Given the description of an element on the screen output the (x, y) to click on. 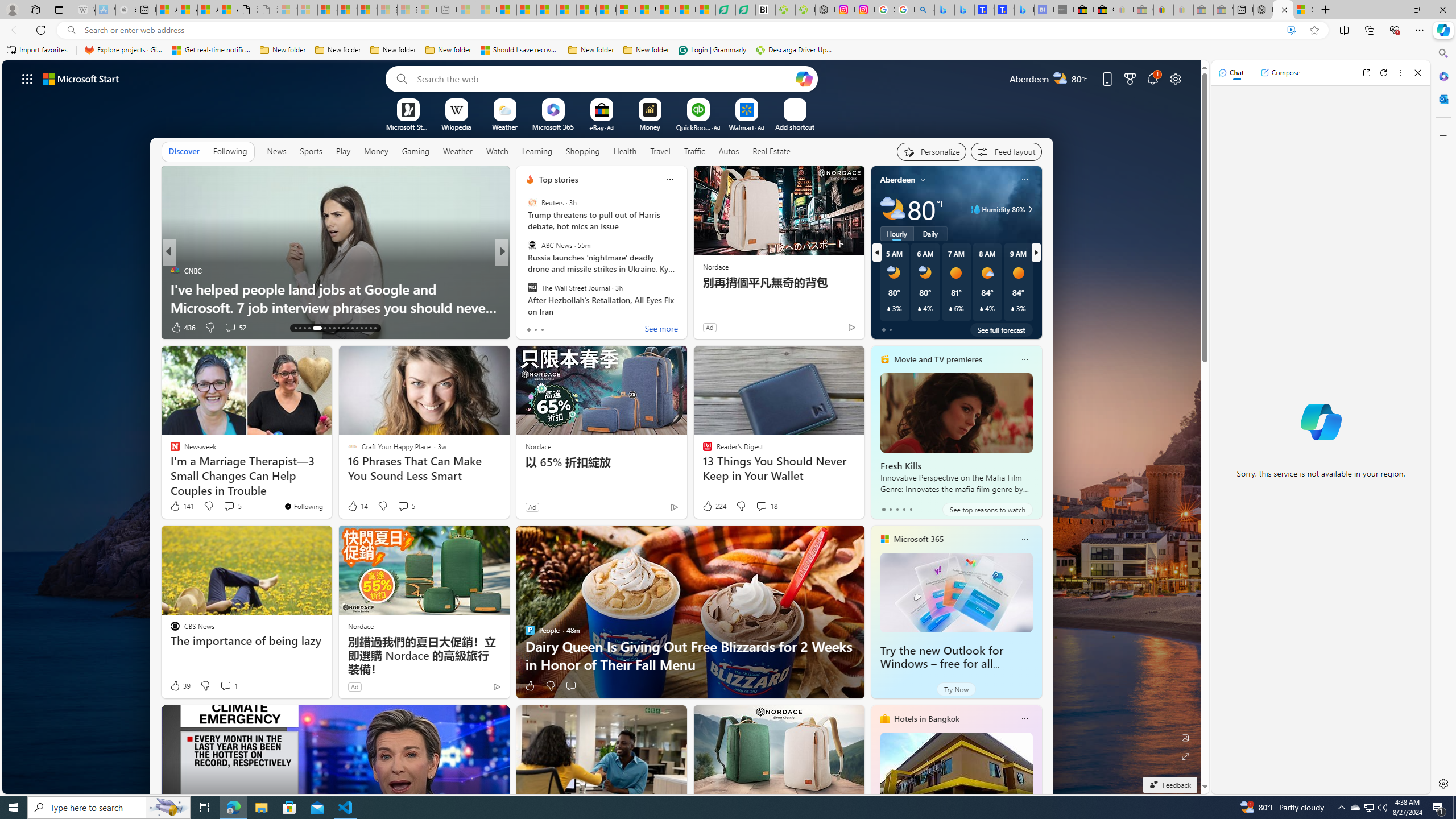
Shangri-La Bangkok, Hotel reviews and Room rates (1004, 9)
View comments 18 Comment (761, 505)
Import favorites (36, 49)
Daily (929, 233)
Marine life - MSN - Sleeping (486, 9)
224 Like (713, 505)
